Given the description of an element on the screen output the (x, y) to click on. 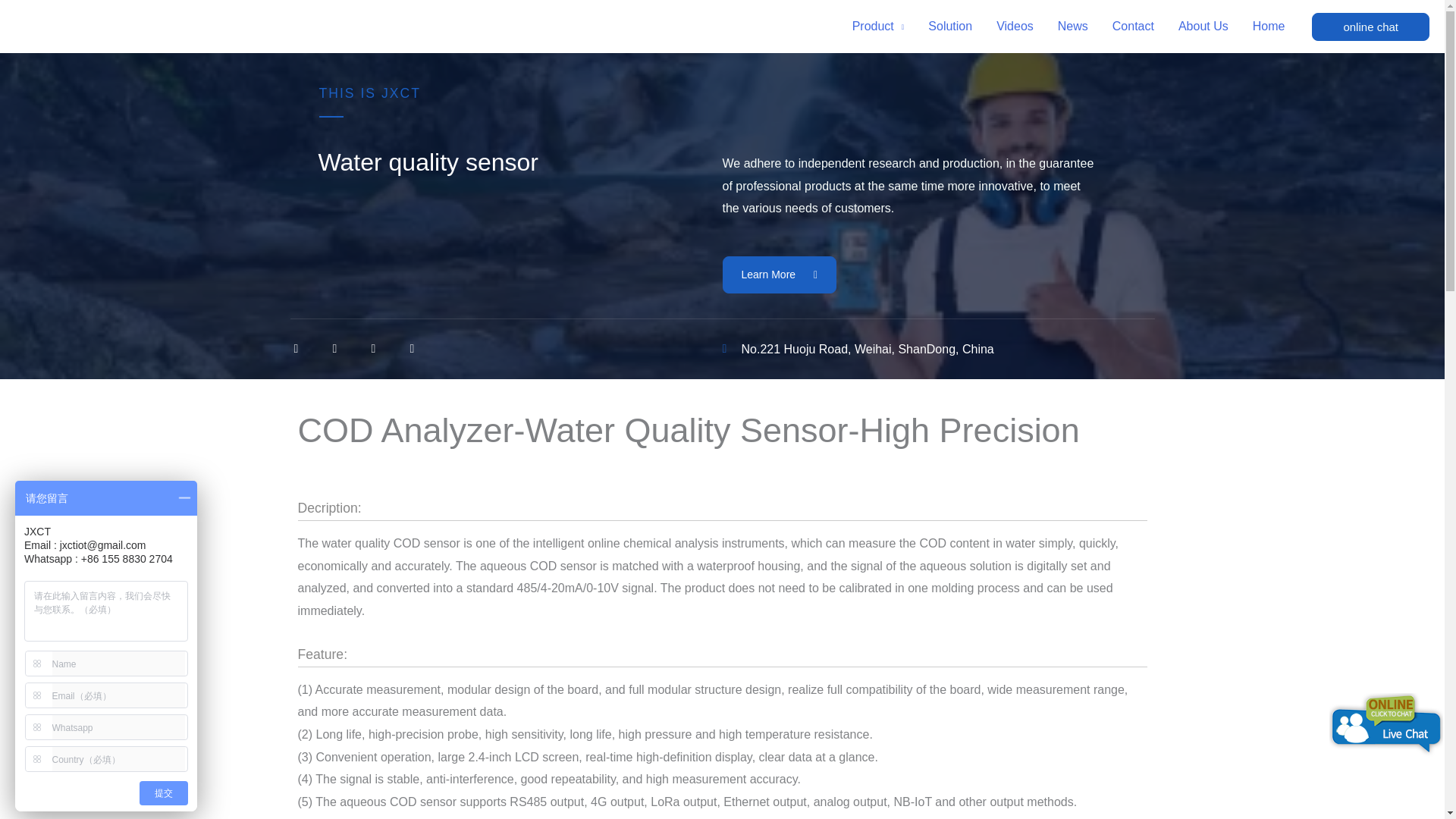
Product (878, 26)
Learn More (778, 274)
Solution (949, 26)
No.221 Huoju Road, Weihai, ShanDong, China (938, 349)
Videos (1014, 26)
online chat (1370, 26)
Home (1268, 26)
Contact (1133, 26)
About Us (1203, 26)
News (1072, 26)
